Given the description of an element on the screen output the (x, y) to click on. 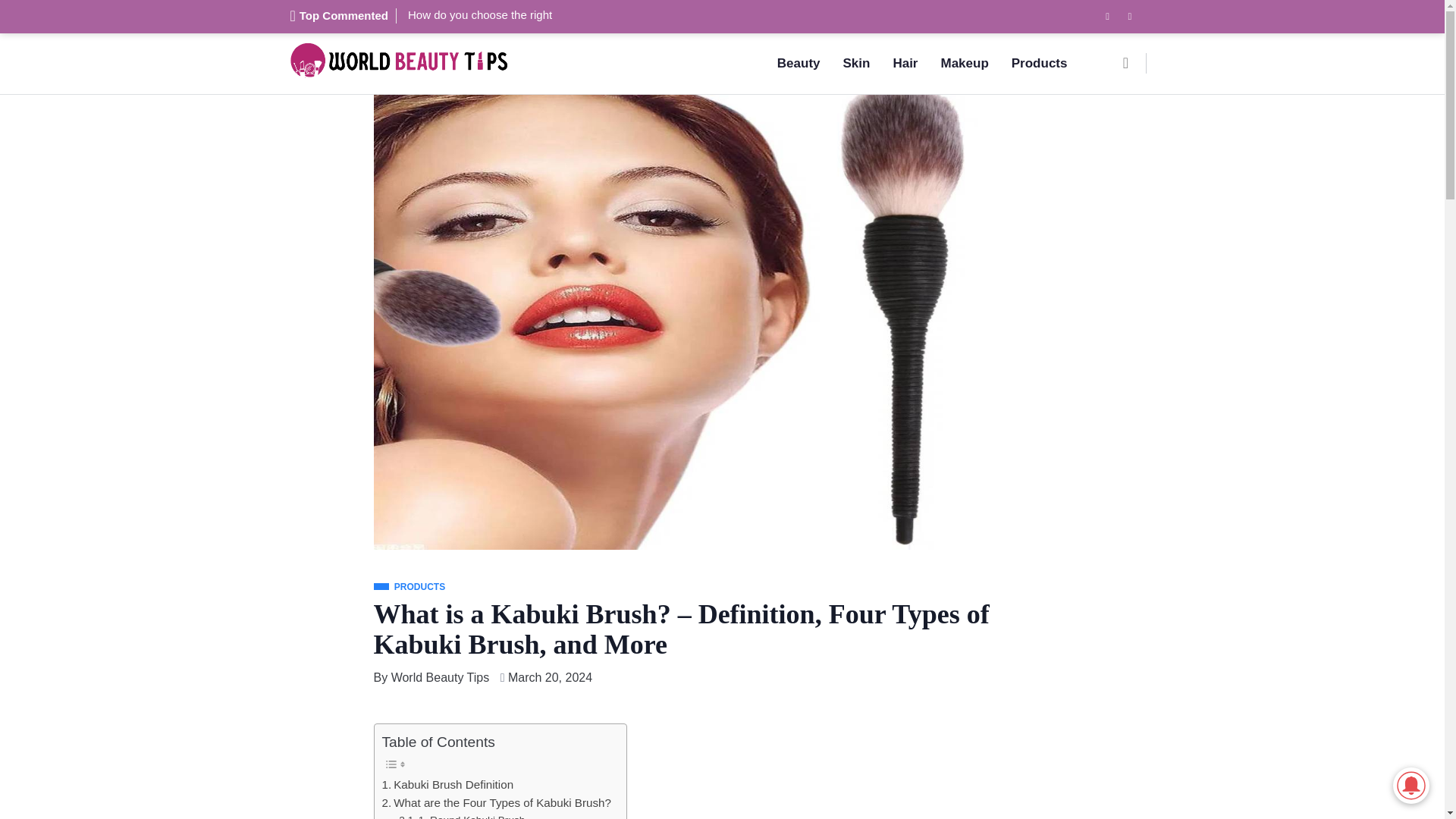
What are the Four Types of Kabuki Brush? (496, 802)
Products (1039, 63)
Makeup (963, 63)
1. Round Kabuki Brush (461, 815)
How do you choose the right (479, 14)
PRODUCTS (408, 587)
Kabuki Brush Definition (447, 784)
1. Round Kabuki Brush (461, 815)
Kabuki Brush Definition (447, 784)
Beauty (798, 63)
World Beauty Tips (440, 677)
What are the Four Types of Kabuki Brush? (496, 802)
How do you choose the right cleanser for your skin? (479, 14)
